Given the description of an element on the screen output the (x, y) to click on. 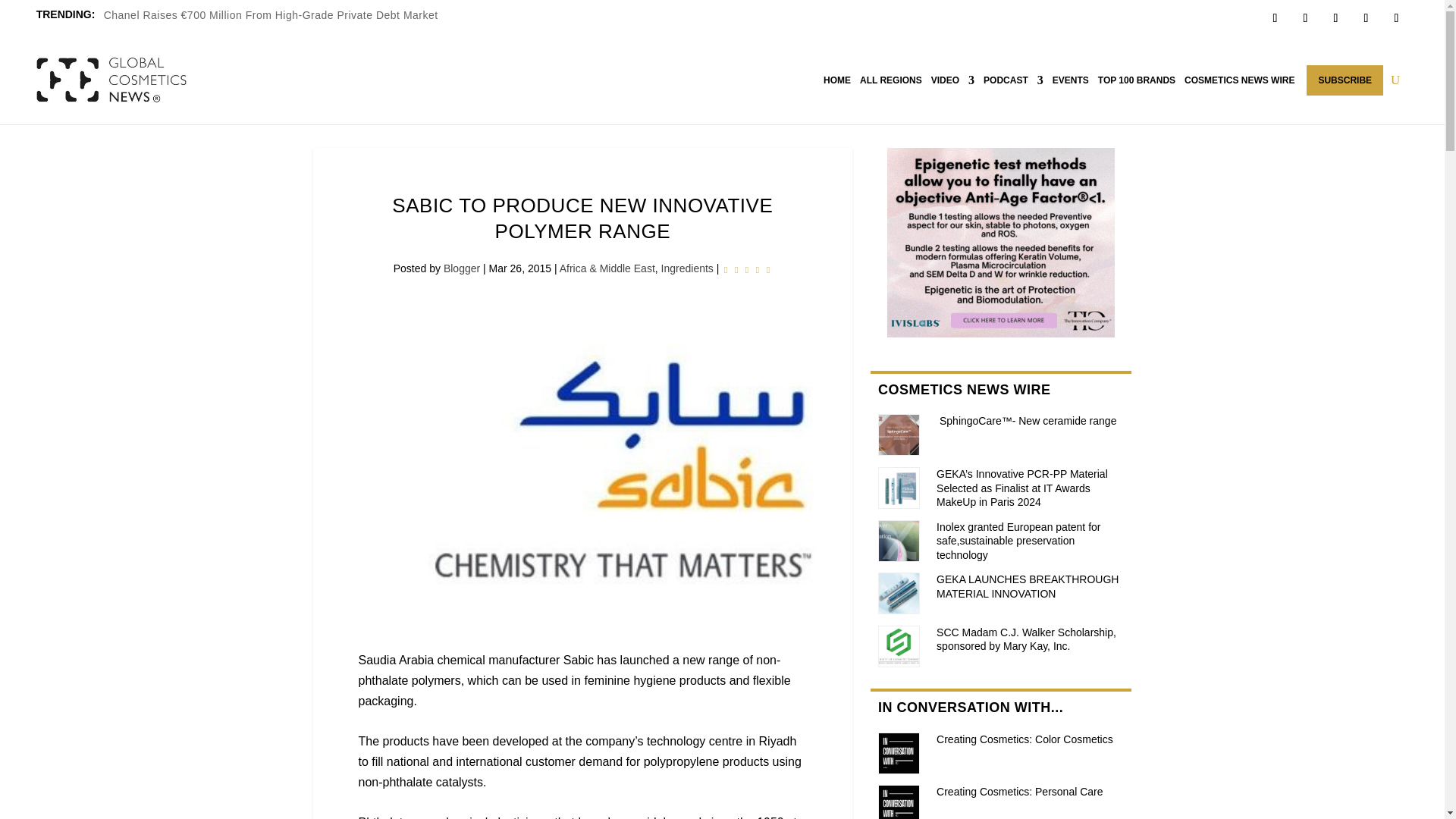
ALL REGIONS (890, 79)
COSMETICS NEWS WIRE (1239, 79)
Follow on Facebook (1274, 17)
Follow on X (1304, 17)
Follow on LinkedIn (1365, 17)
SUBSCRIBE (1344, 80)
Posts by Blogger (462, 268)
PODCAST (1013, 79)
Rating: 0.00 (746, 269)
Follow on Youtube (1395, 17)
TOP 100 BRANDS (1135, 79)
Follow on Instagram (1335, 17)
